Given the description of an element on the screen output the (x, y) to click on. 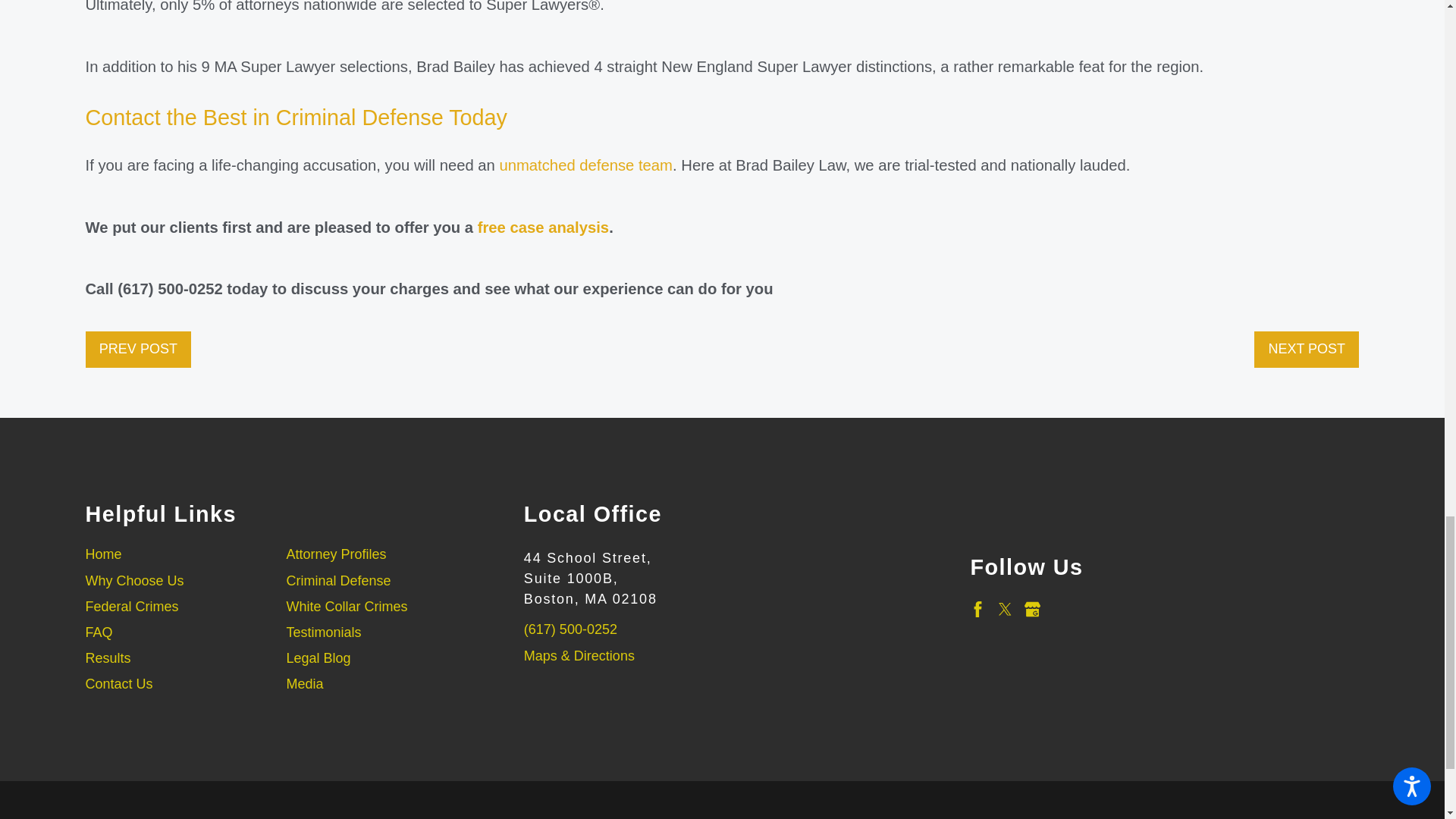
Google Business Profile (1033, 609)
Twitter (1005, 609)
Facebook (977, 609)
